Given the description of an element on the screen output the (x, y) to click on. 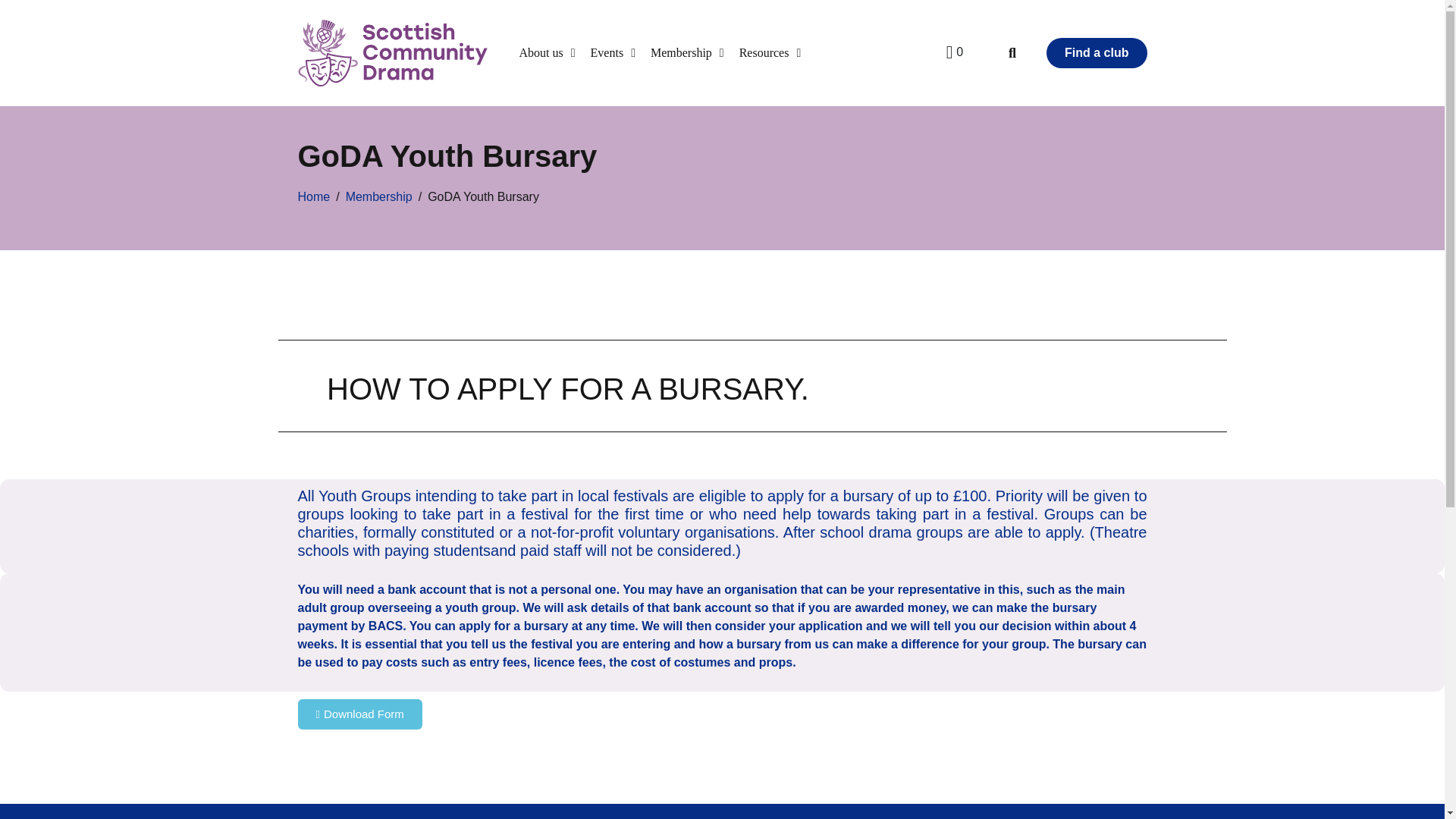
About us (546, 52)
Events (613, 52)
Membership (687, 52)
